Given the description of an element on the screen output the (x, y) to click on. 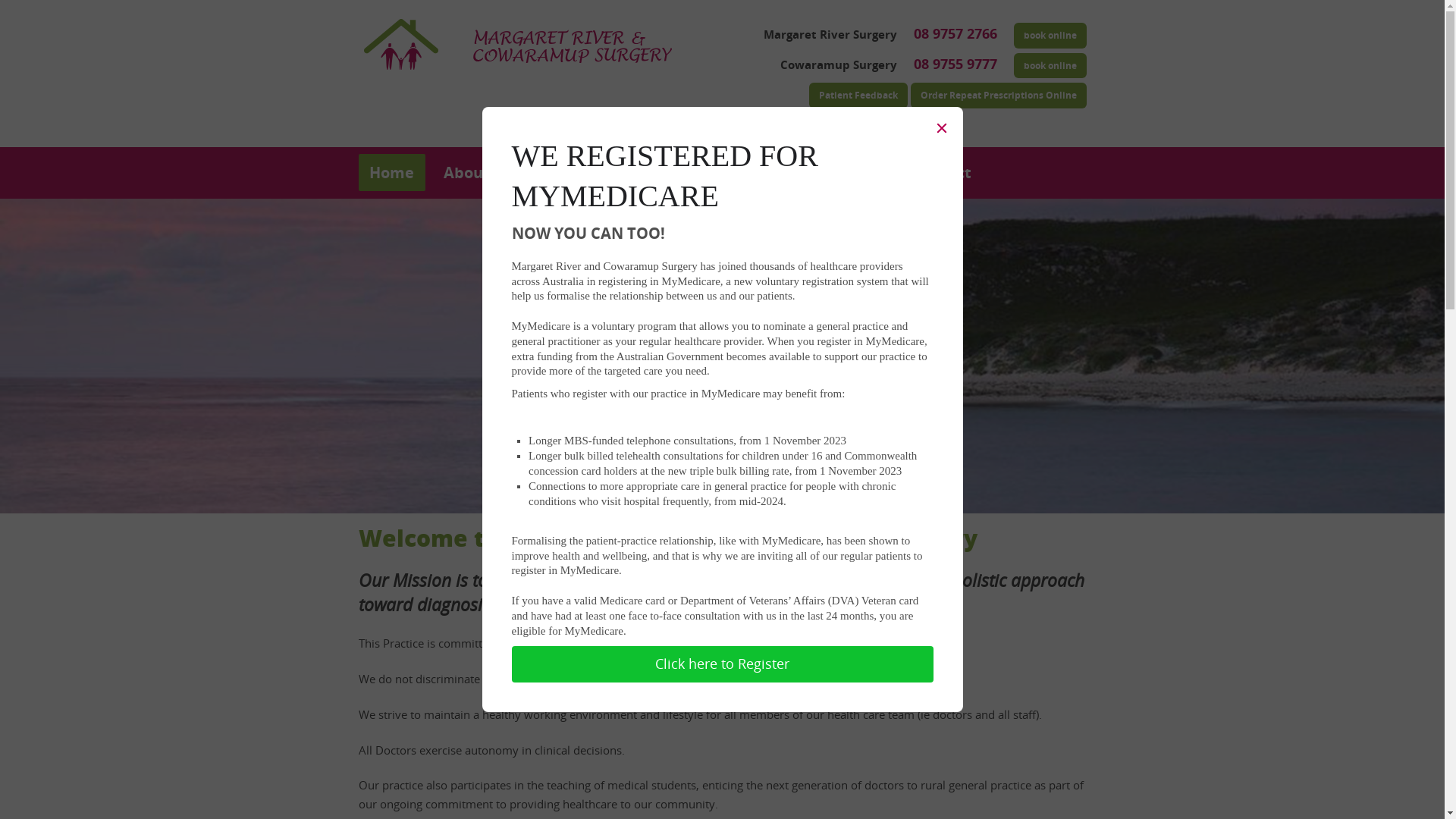
08 9755 9777 Element type: text (954, 63)
08 9757 2766 Element type: text (954, 33)
book online Element type: text (1049, 35)
book online Element type: text (1049, 65)
Click here to Register Element type: text (721, 664)
Patient Feedback Element type: text (857, 95)
COVID-19 Element type: text (644, 172)
Services Element type: text (549, 172)
Fees Element type: text (865, 172)
Contact Element type: text (941, 172)
Order Repeat Prescriptions Online Element type: text (997, 95)
Home Element type: text (390, 172)
About Element type: text (466, 172)
Appointments Element type: text (764, 172)
